Given the description of an element on the screen output the (x, y) to click on. 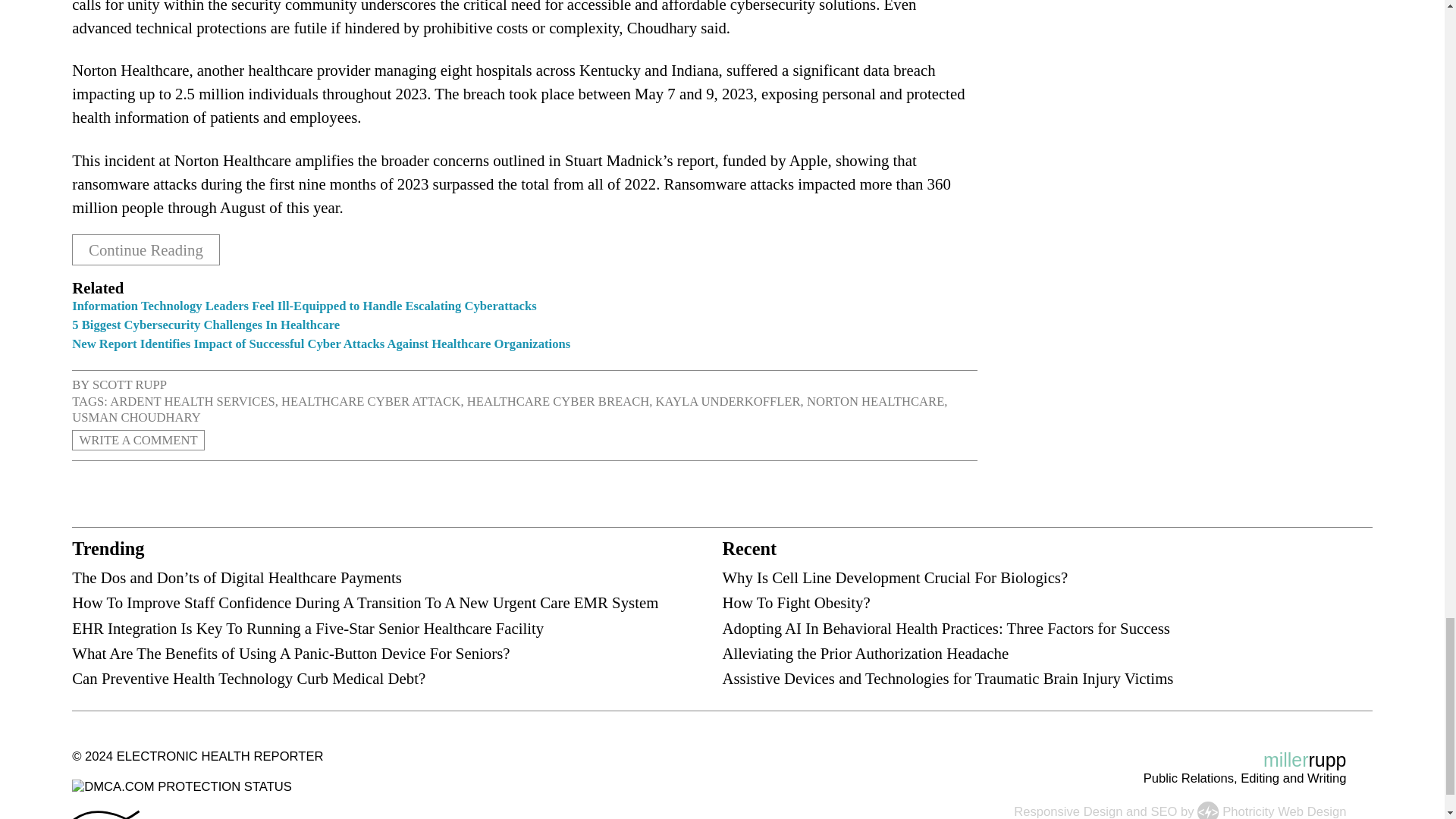
5 Biggest Cybersecurity Challenges In Healthcare (205, 324)
SCOTT RUPP (130, 384)
KAYLA UNDERKOFFLER (728, 400)
USMAN CHOUDHARY (135, 417)
NORTON HEALTHCARE (874, 400)
ARDENT HEALTH SERVICES (192, 400)
Continue Reading (145, 250)
HEALTHCARE CYBER BREACH (558, 400)
